Given the description of an element on the screen output the (x, y) to click on. 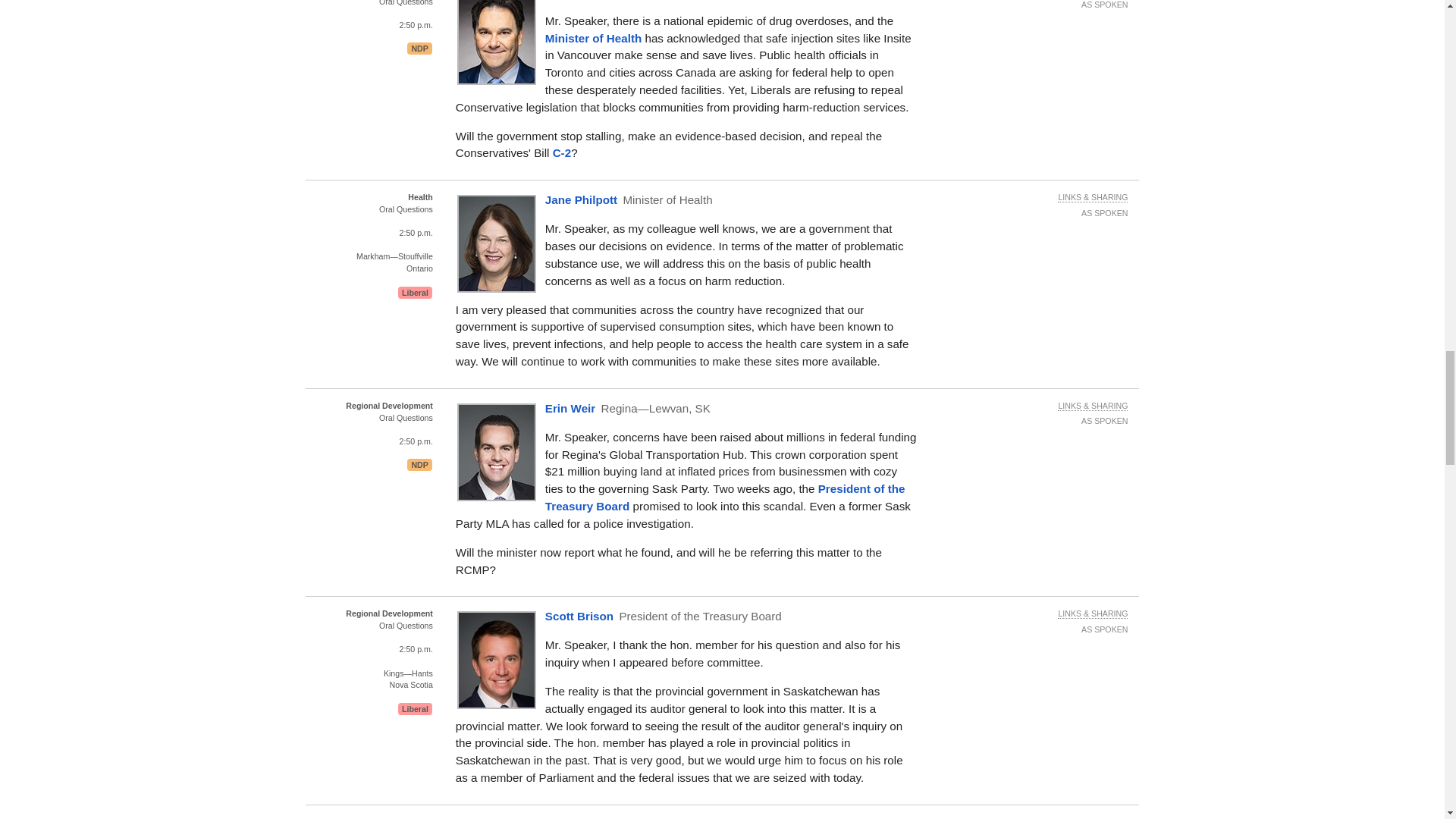
Jane Philpott (593, 38)
